Given the description of an element on the screen output the (x, y) to click on. 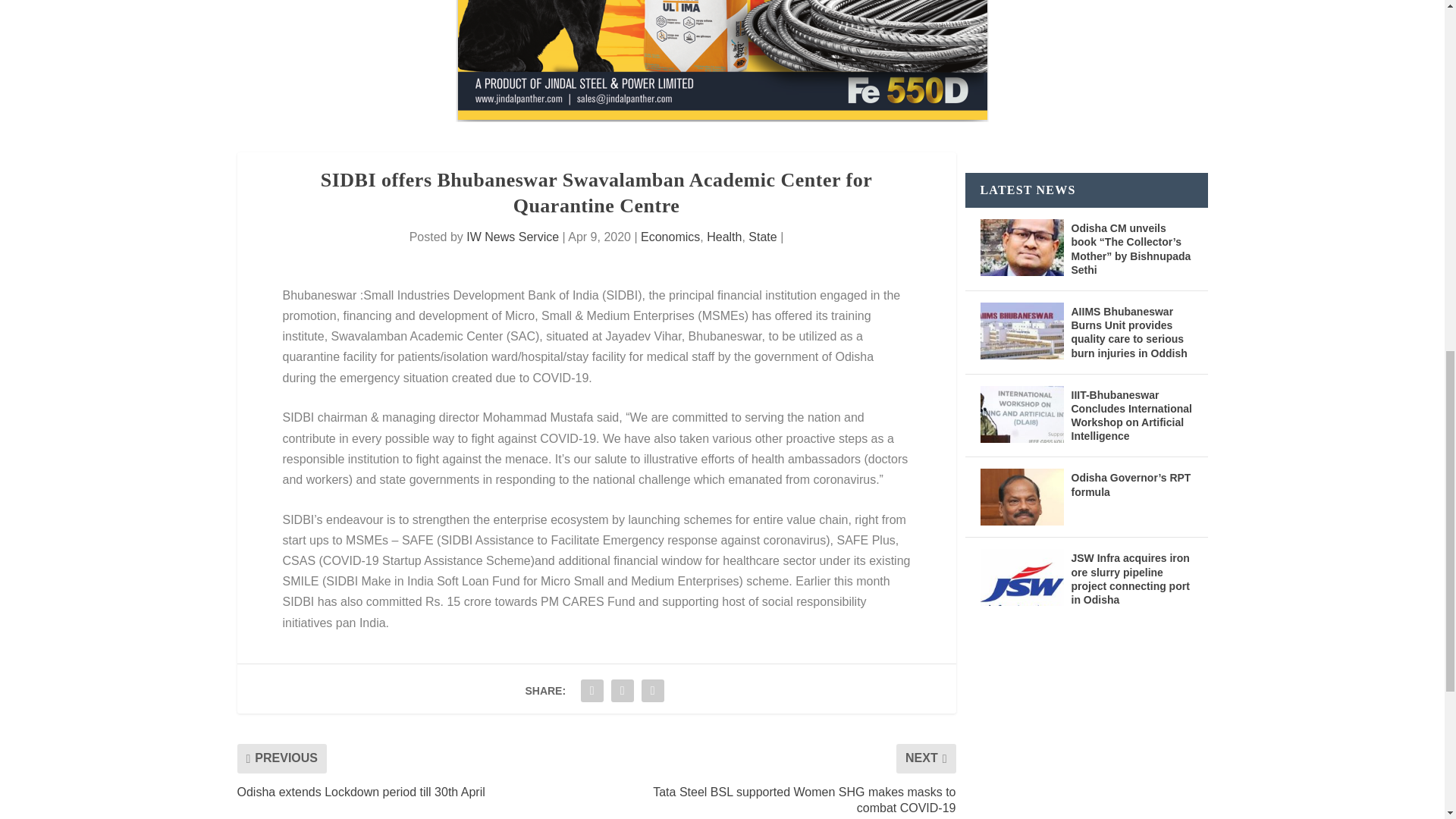
Posts by IW News Service (512, 236)
